Given the description of an element on the screen output the (x, y) to click on. 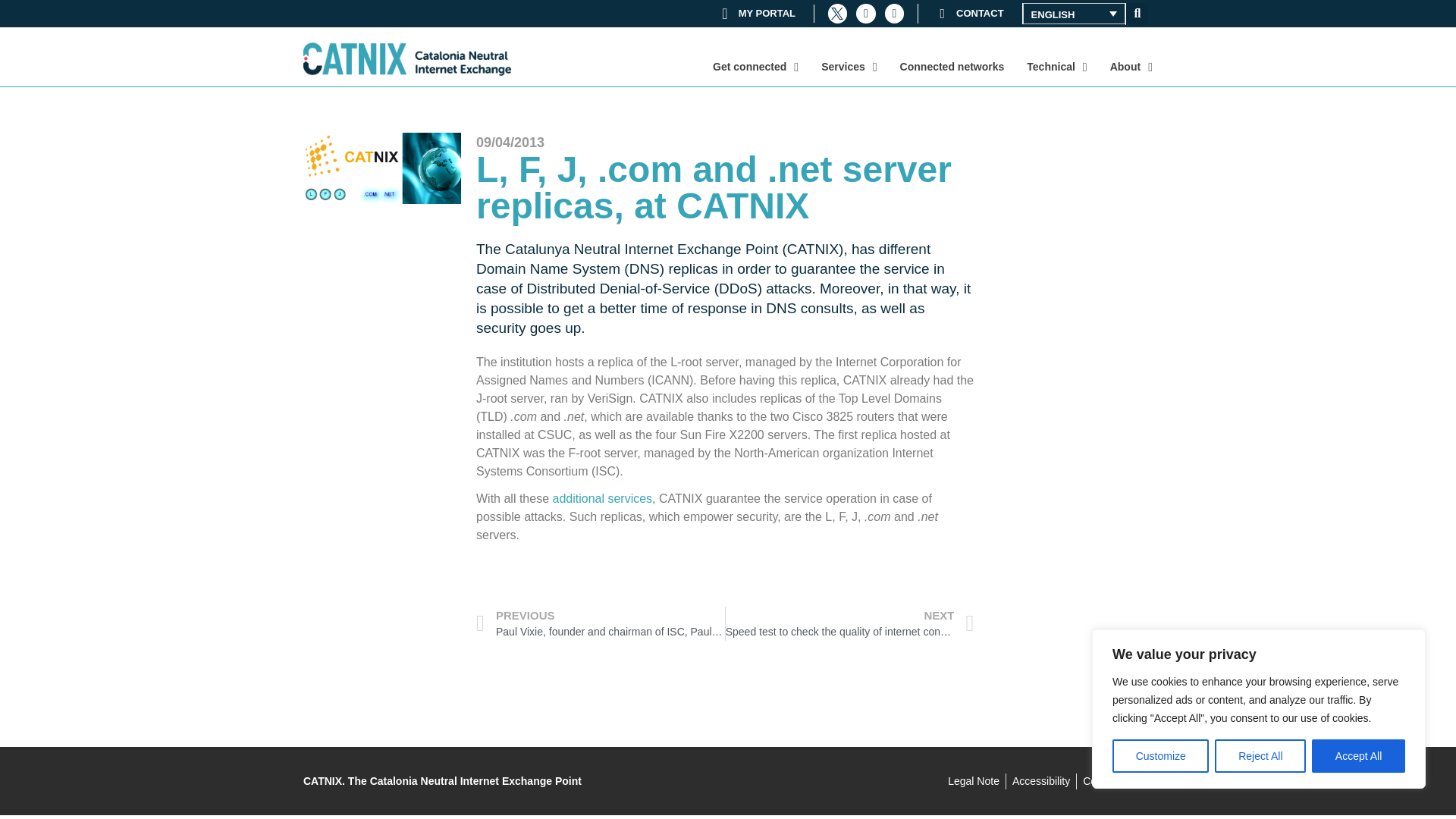
Accept All (1358, 756)
Customize (1160, 756)
Reject All (1260, 756)
